Given the description of an element on the screen output the (x, y) to click on. 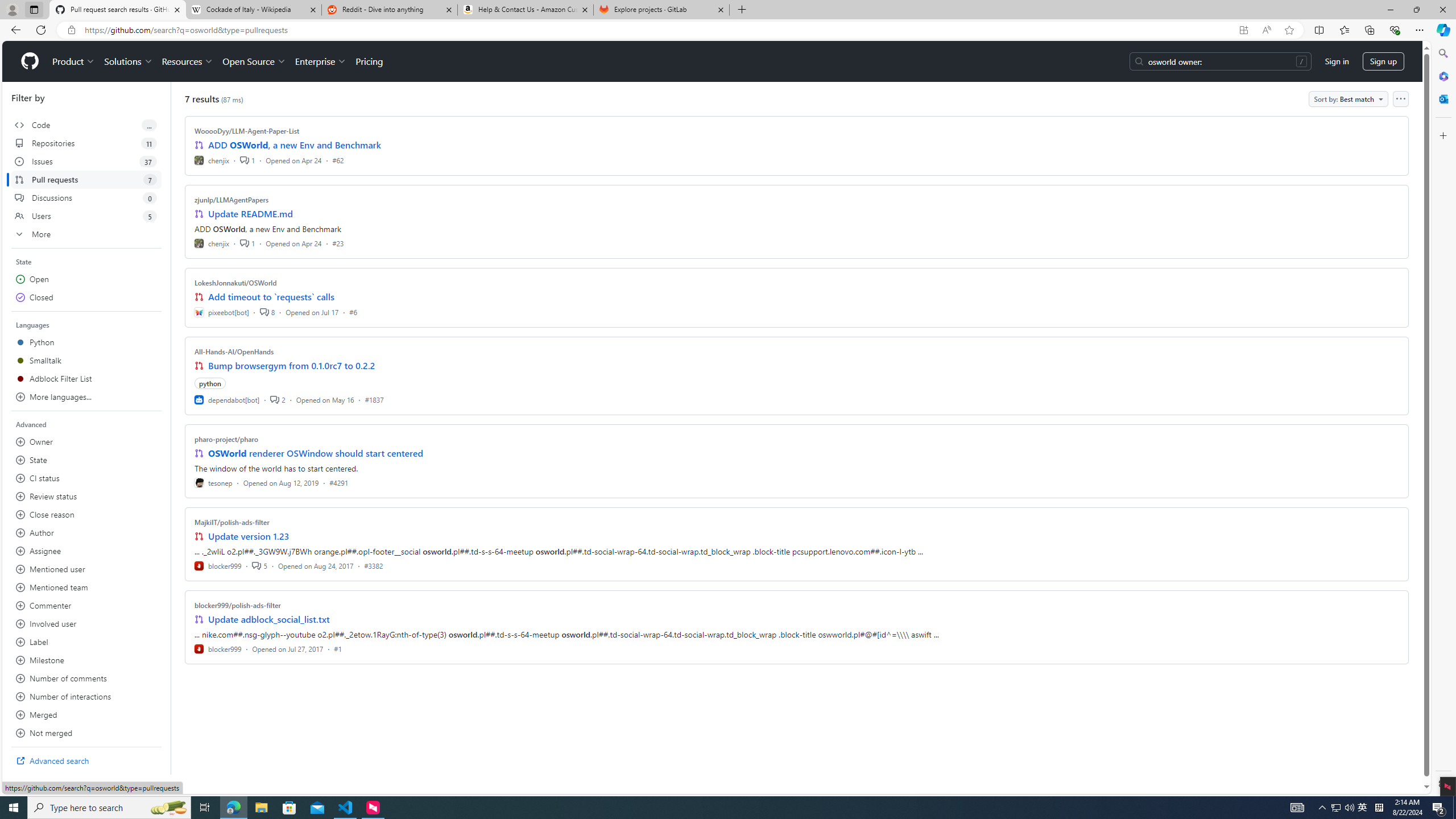
ADD OSWorld, a new Env and Benchmark (294, 144)
#62 (337, 159)
tesonep (213, 482)
#1 (337, 648)
#1837 (374, 398)
Sort by: Best match (1348, 98)
1 (246, 242)
#1837 (374, 398)
